Given the description of an element on the screen output the (x, y) to click on. 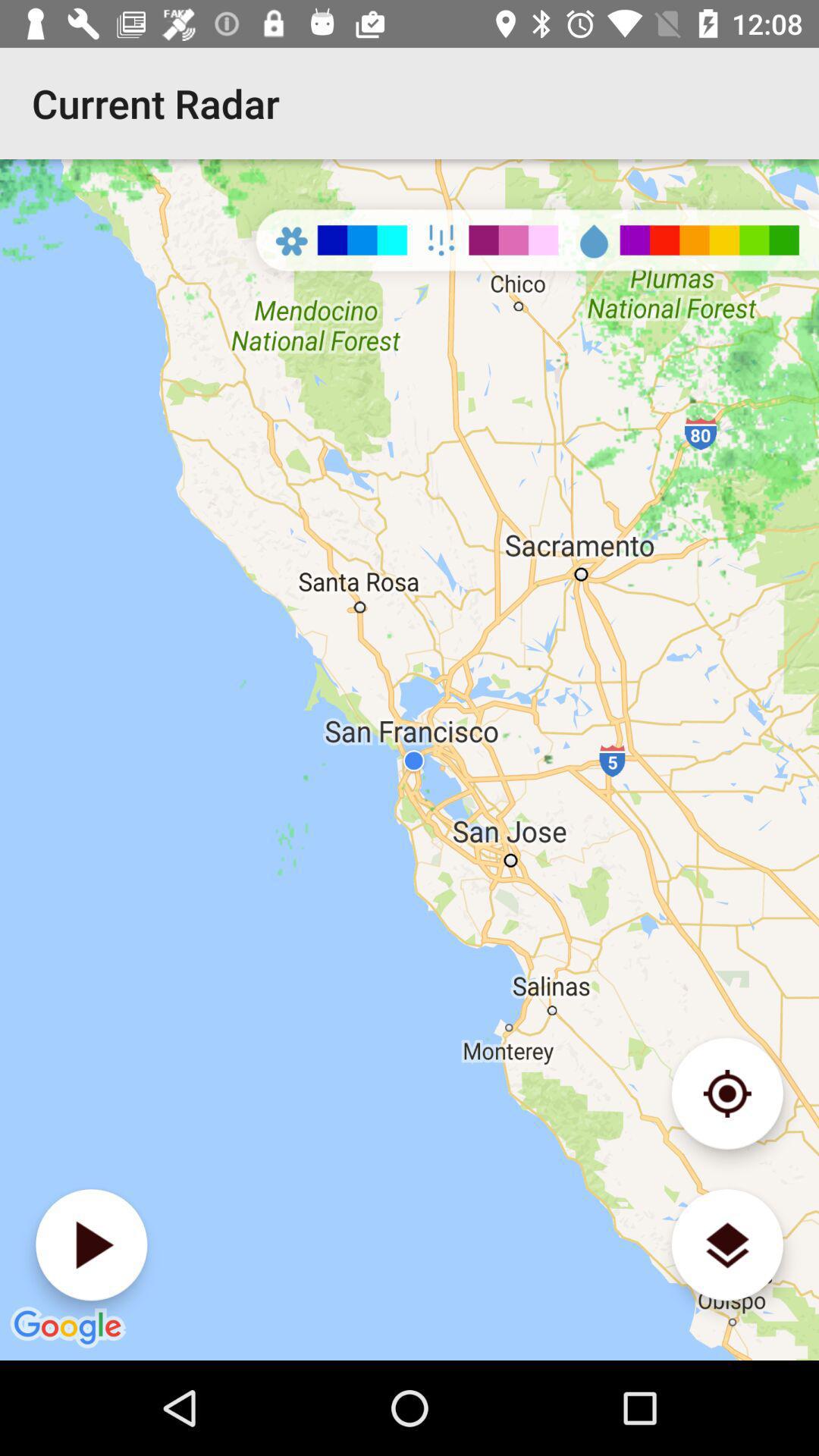
choose icon below current radar (409, 759)
